Given the description of an element on the screen output the (x, y) to click on. 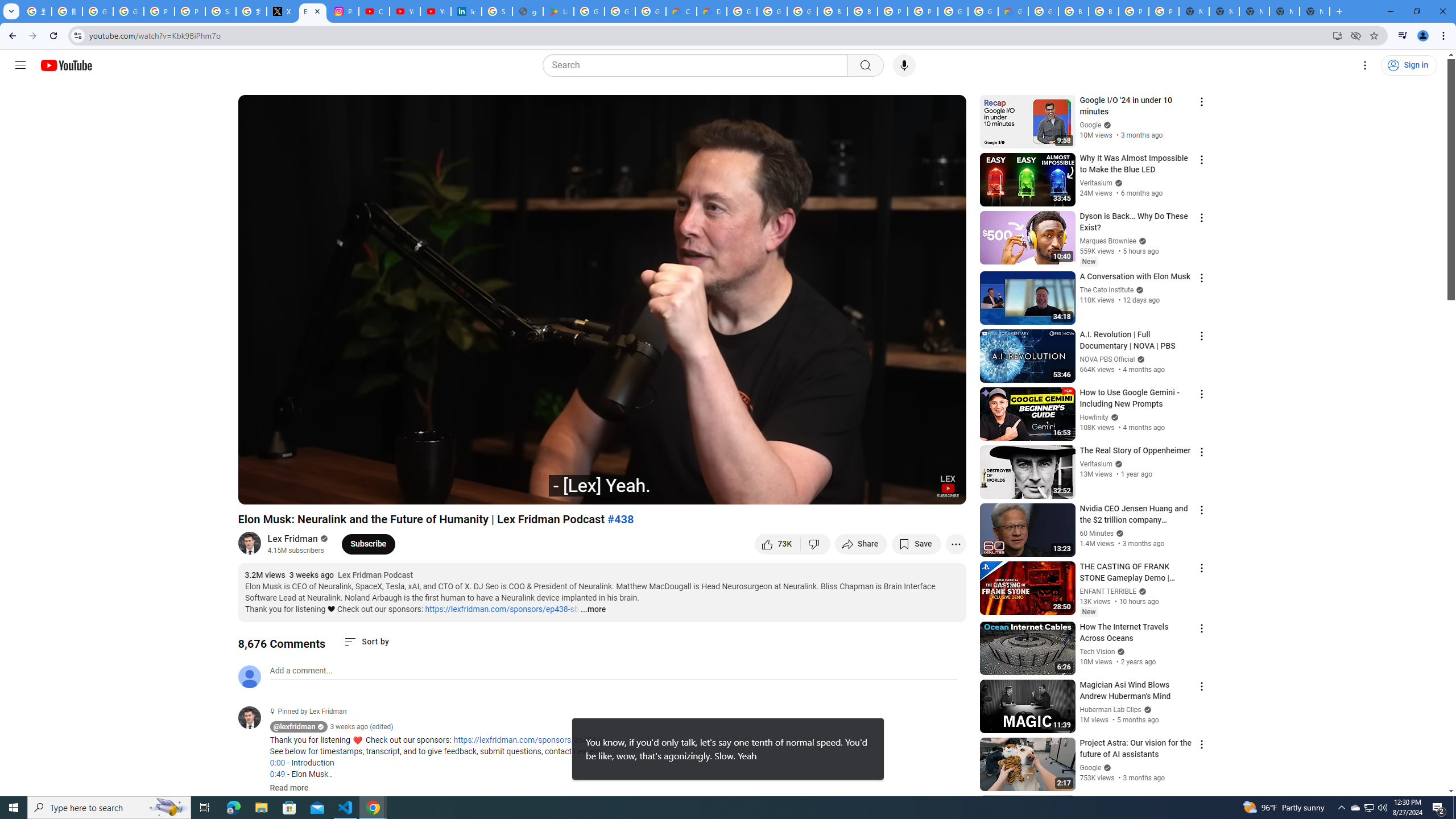
Play (k) (257, 490)
@lexfridman (294, 726)
New (1087, 611)
https://lexfridman.com/sponsors/ep438-sb (502, 609)
Browse Chrome as a guest - Computer - Google Chrome Help (1072, 11)
Share (861, 543)
3 weeks ago (edited) (361, 726)
Read more (288, 787)
